Given the description of an element on the screen output the (x, y) to click on. 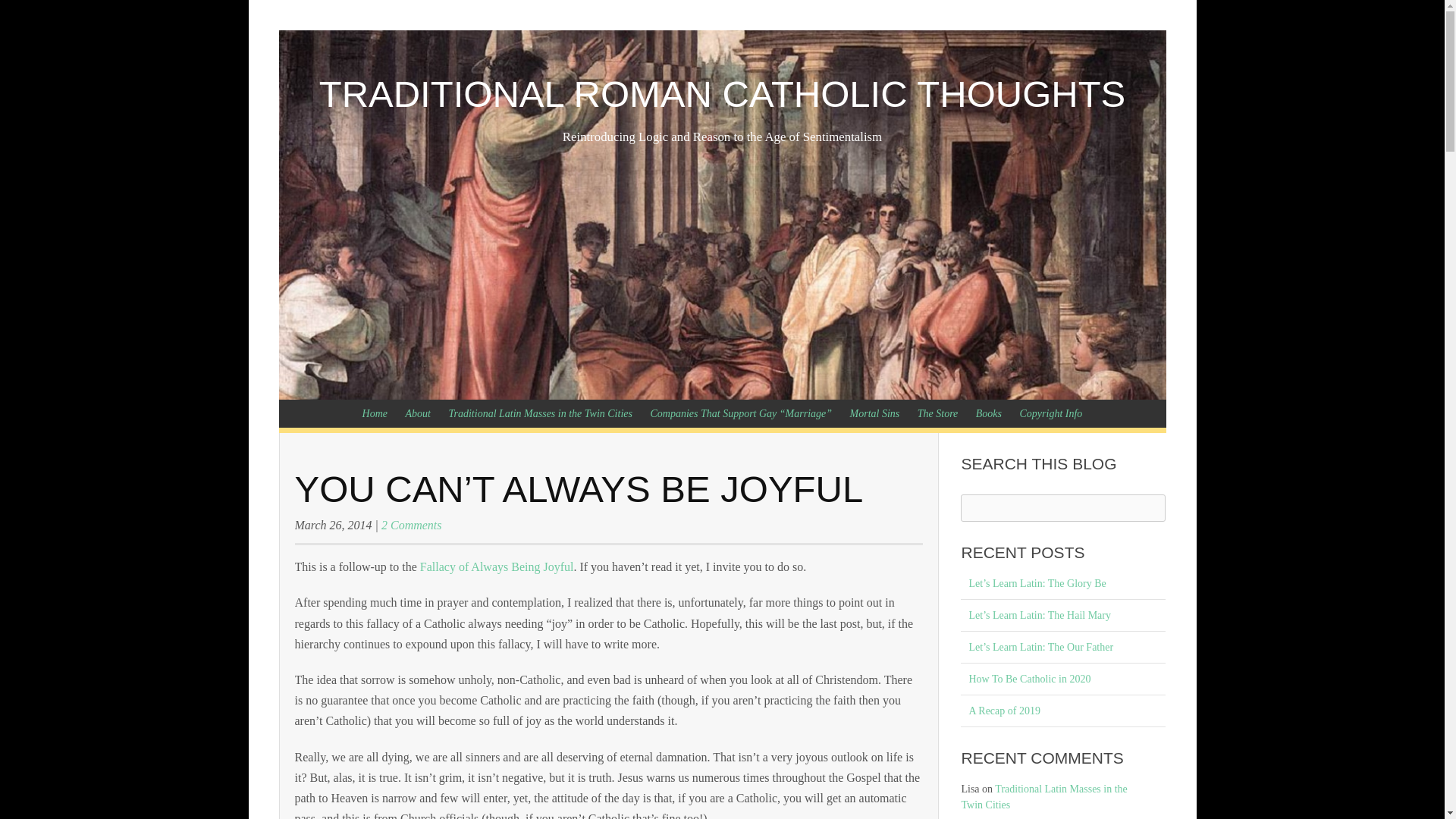
Mortal Sins (875, 413)
Books (988, 413)
Traditional Latin Masses in the Twin Cities (1043, 796)
2014-03-26T12:20:07-0500 (332, 524)
How To Be Catholic in 2020 (1063, 679)
Traditional Roman Catholic Thoughts (721, 93)
Copyright Info (1050, 413)
The Fallacy of Always Being Joyful (496, 566)
A Recap of 2019 (1063, 711)
TRADITIONAL ROMAN CATHOLIC THOUGHTS (721, 93)
